Given the description of an element on the screen output the (x, y) to click on. 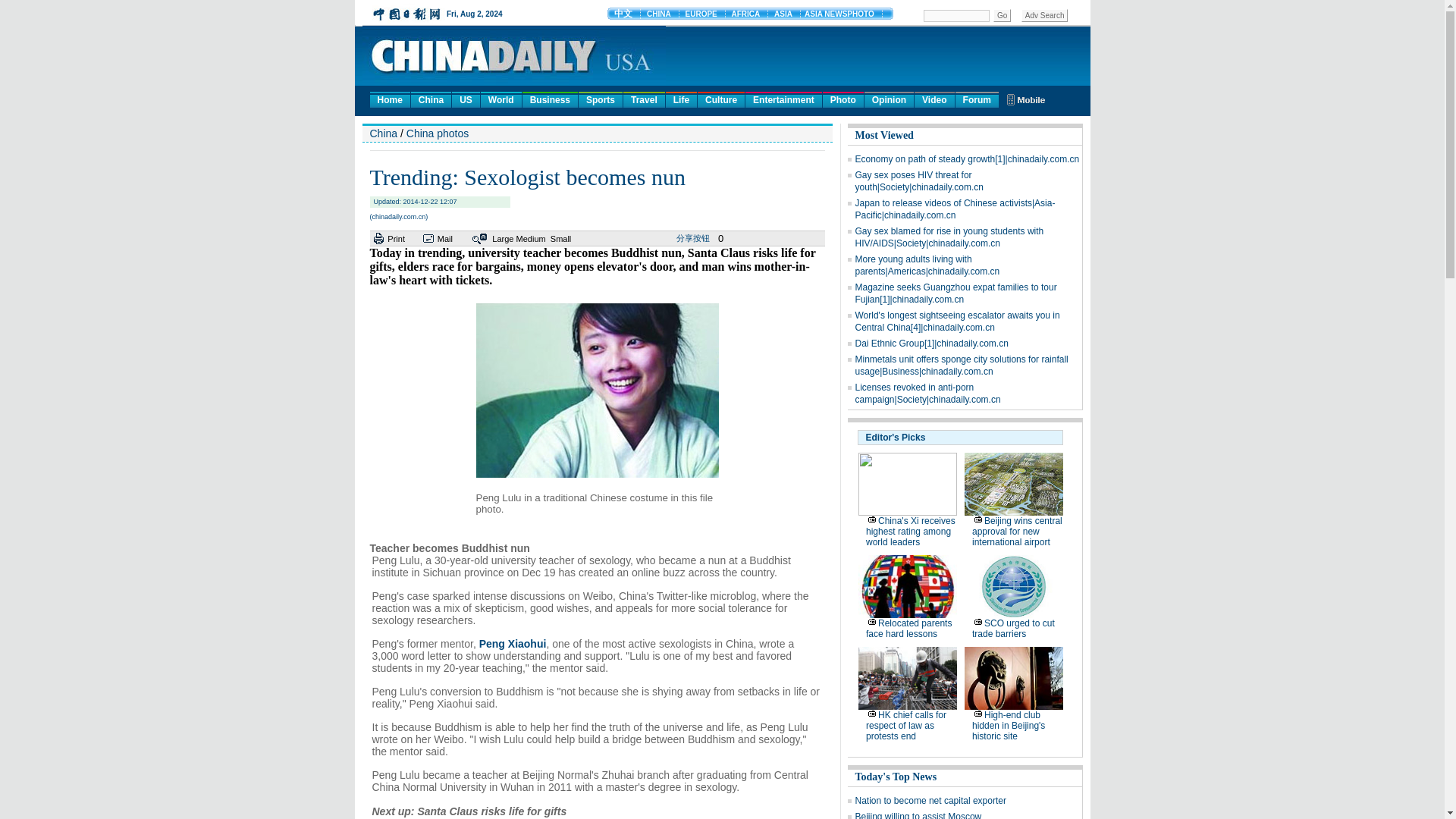
Business (550, 99)
Home (389, 99)
Sports (600, 99)
US (465, 99)
China (430, 99)
World (500, 99)
Travel (644, 99)
